Given the description of an element on the screen output the (x, y) to click on. 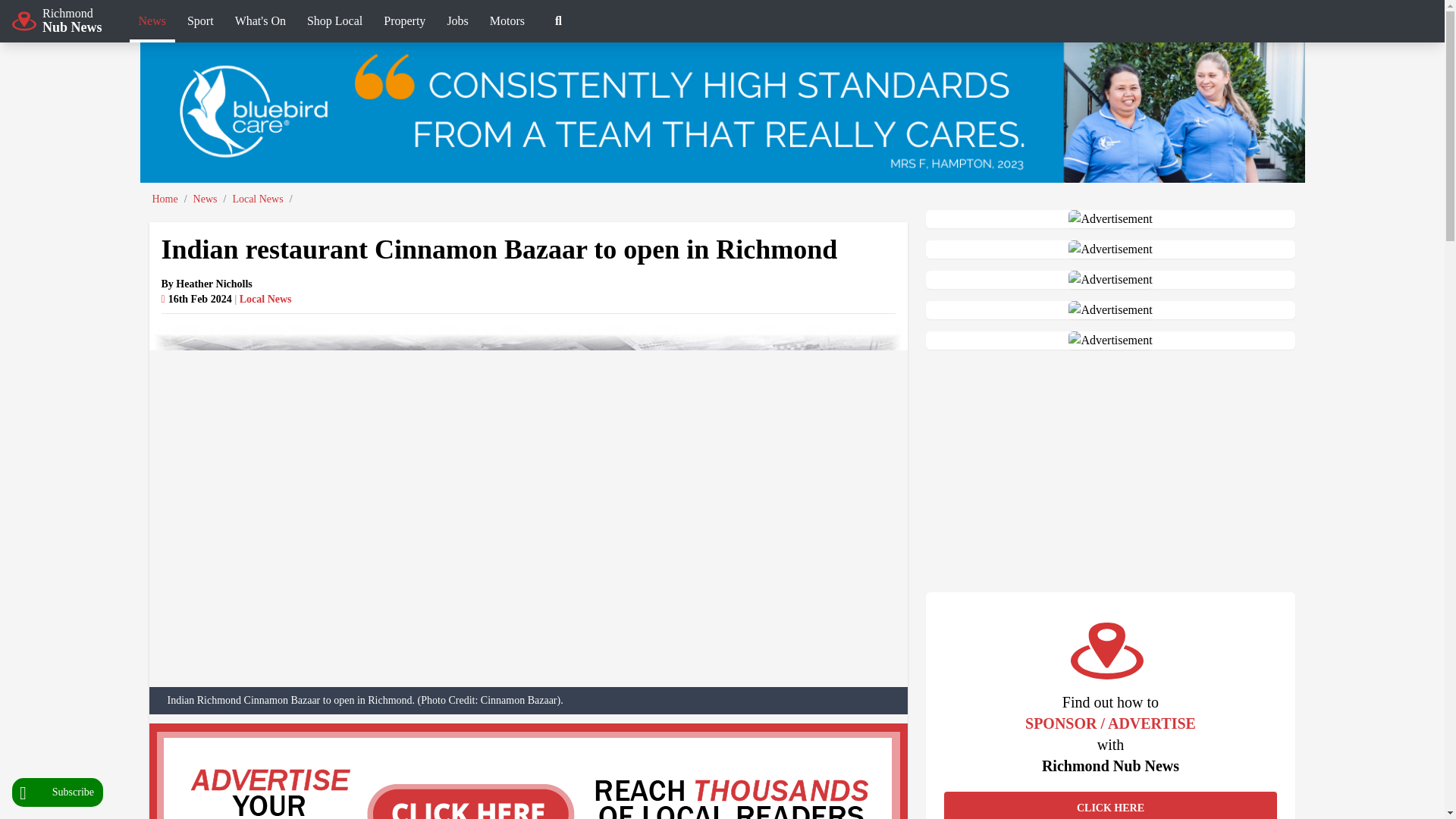
Shop Local (334, 22)
News (151, 22)
Subscribe (56, 20)
What's On (57, 792)
Sport (260, 22)
